Given the description of an element on the screen output the (x, y) to click on. 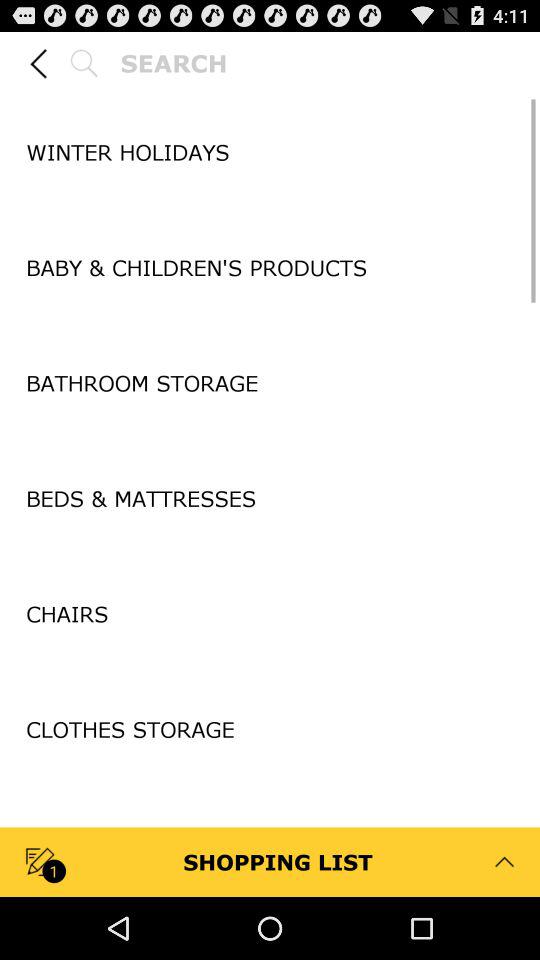
scroll until the chairs (270, 614)
